Given the description of an element on the screen output the (x, y) to click on. 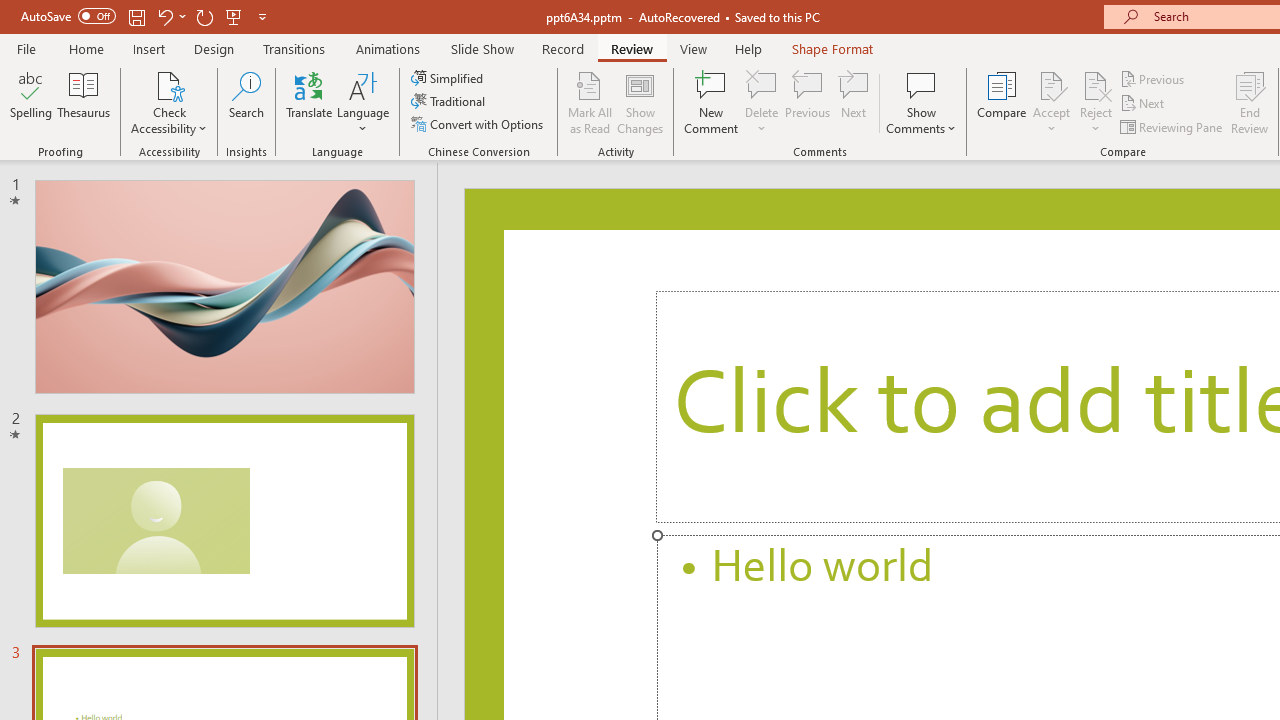
Show Changes (639, 102)
Reviewing Pane (1172, 126)
Accept Change (1051, 84)
Next (1144, 103)
Thesaurus... (83, 102)
New Comment (711, 102)
Translate (309, 102)
Mark All as Read (589, 102)
